Given the description of an element on the screen output the (x, y) to click on. 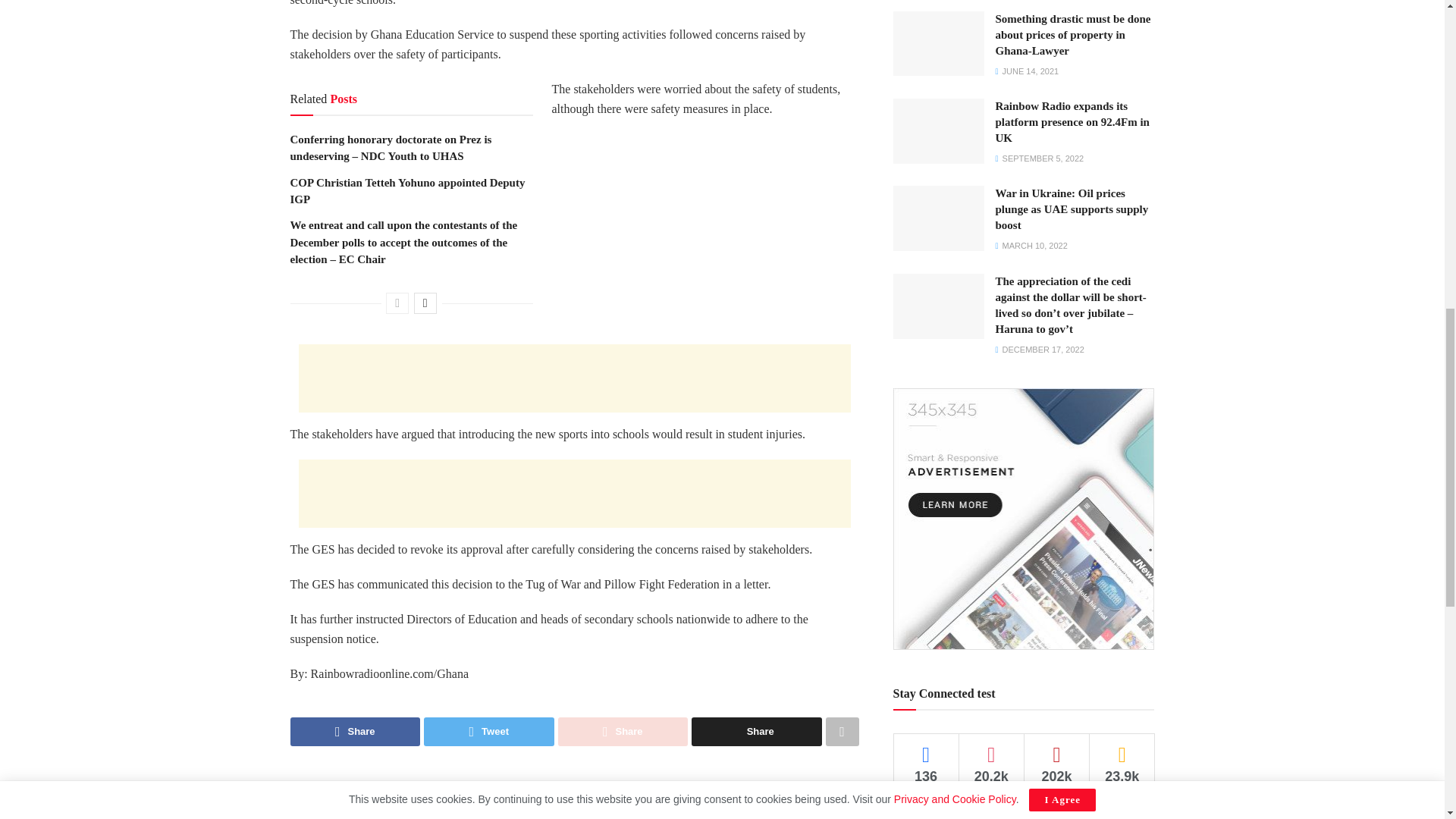
Tweet (488, 731)
COP Christian Tetteh Yohuno appointed Deputy IGP (406, 190)
Next (424, 302)
Share (756, 731)
Share (354, 731)
Share (622, 731)
Previous (397, 302)
